Given the description of an element on the screen output the (x, y) to click on. 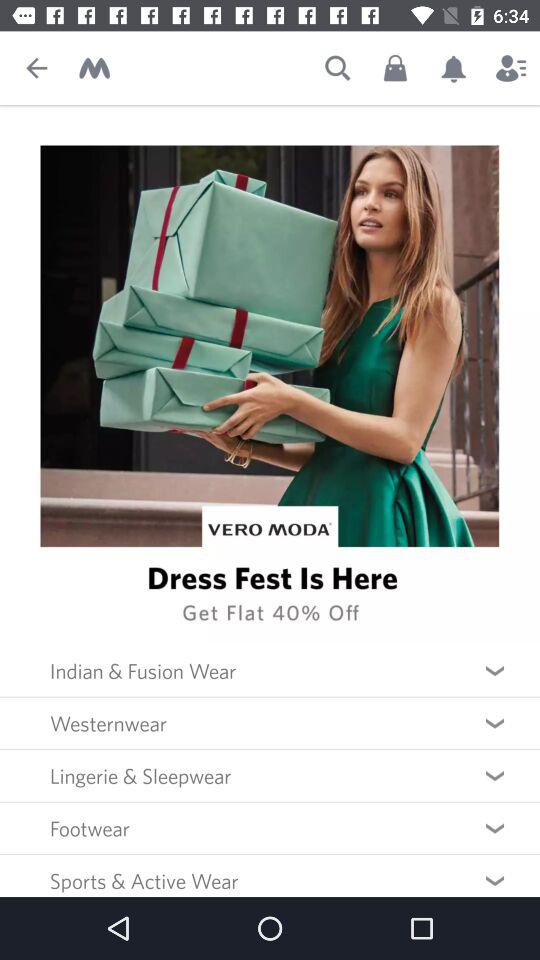
return to home page (94, 68)
